Given the description of an element on the screen output the (x, y) to click on. 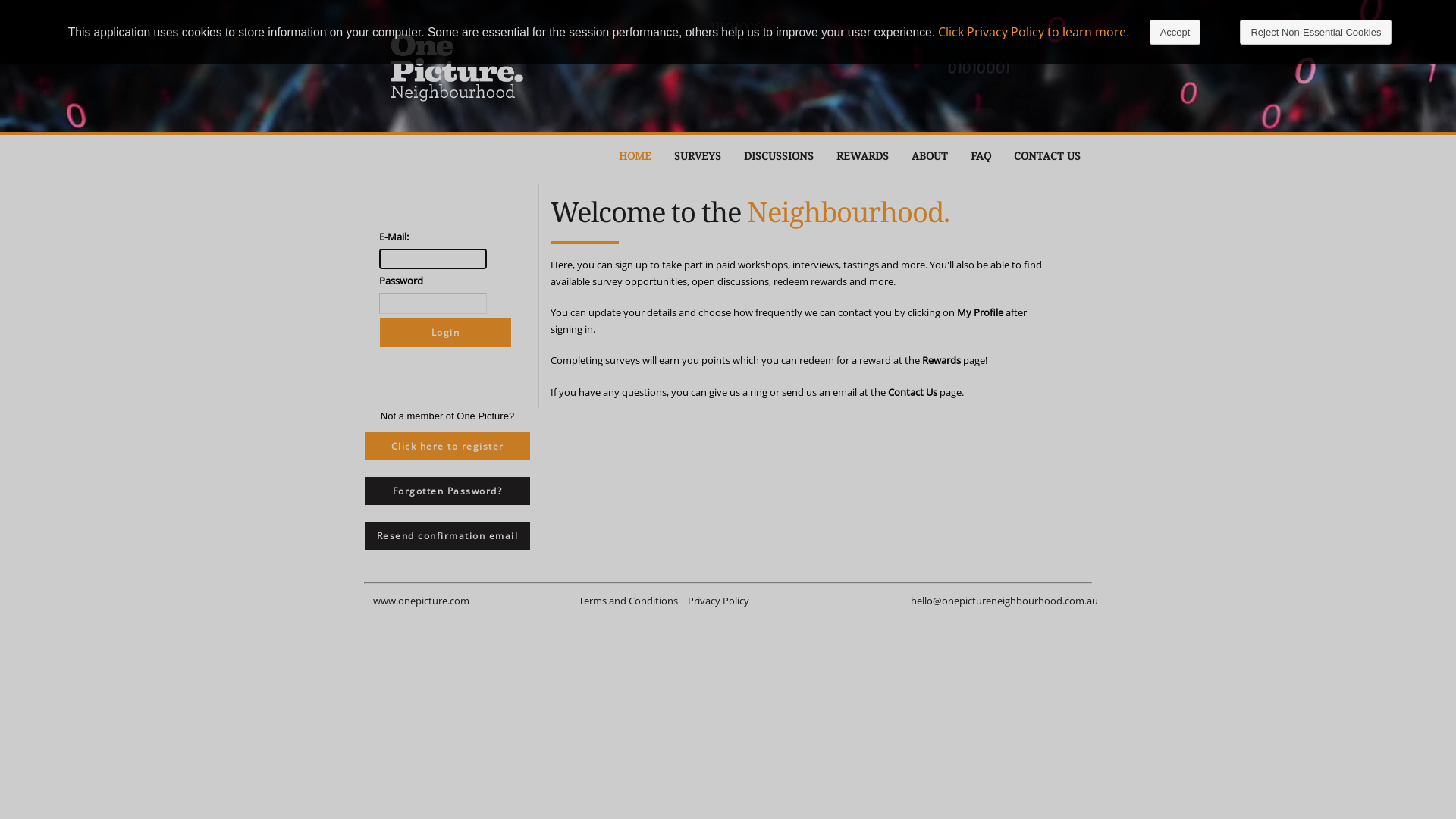
FAQ Element type: text (984, 155)
ABOUT Element type: text (933, 155)
Forgotten Password? Element type: text (447, 490)
Resend confirmation email Element type: text (447, 535)
Reject Non-Essential Cookies Element type: text (1315, 31)
REWARDS Element type: text (866, 155)
Terms and Conditions Element type: text (627, 600)
Accept Element type: text (1175, 31)
CONTACT US Element type: text (1051, 155)
Click Privacy Policy to learn more Element type: text (1032, 31)
hello@onepictureneighbourhood.com.au Element type: text (1004, 600)
Privacy Policy Element type: text (718, 600)
Login Element type: text (445, 332)
www.onepicture.com Element type: text (421, 600)
Click here to register Element type: text (447, 446)
Big Picture Element type: hover (457, 67)
DISCUSSIONS Element type: text (782, 155)
SURVEYS Element type: text (701, 155)
HOME Element type: text (638, 155)
